Given the description of an element on the screen output the (x, y) to click on. 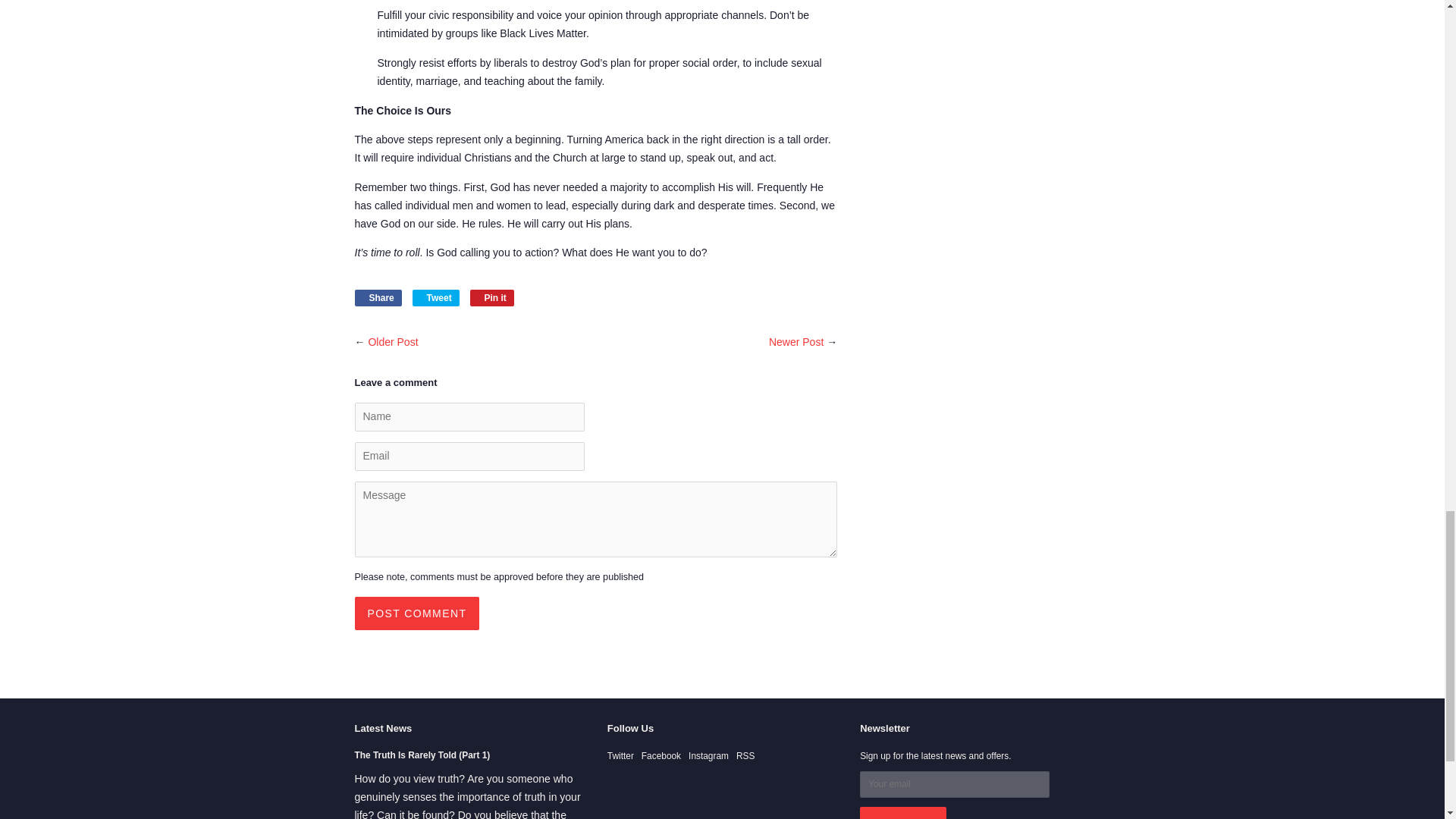
Share on Facebook (436, 297)
Post comment (491, 297)
Pin on Pinterest (378, 297)
Post comment (378, 297)
Subscribe (417, 613)
Warrior Spirit Publications on RSS (491, 297)
Newer Post (417, 613)
